Given the description of an element on the screen output the (x, y) to click on. 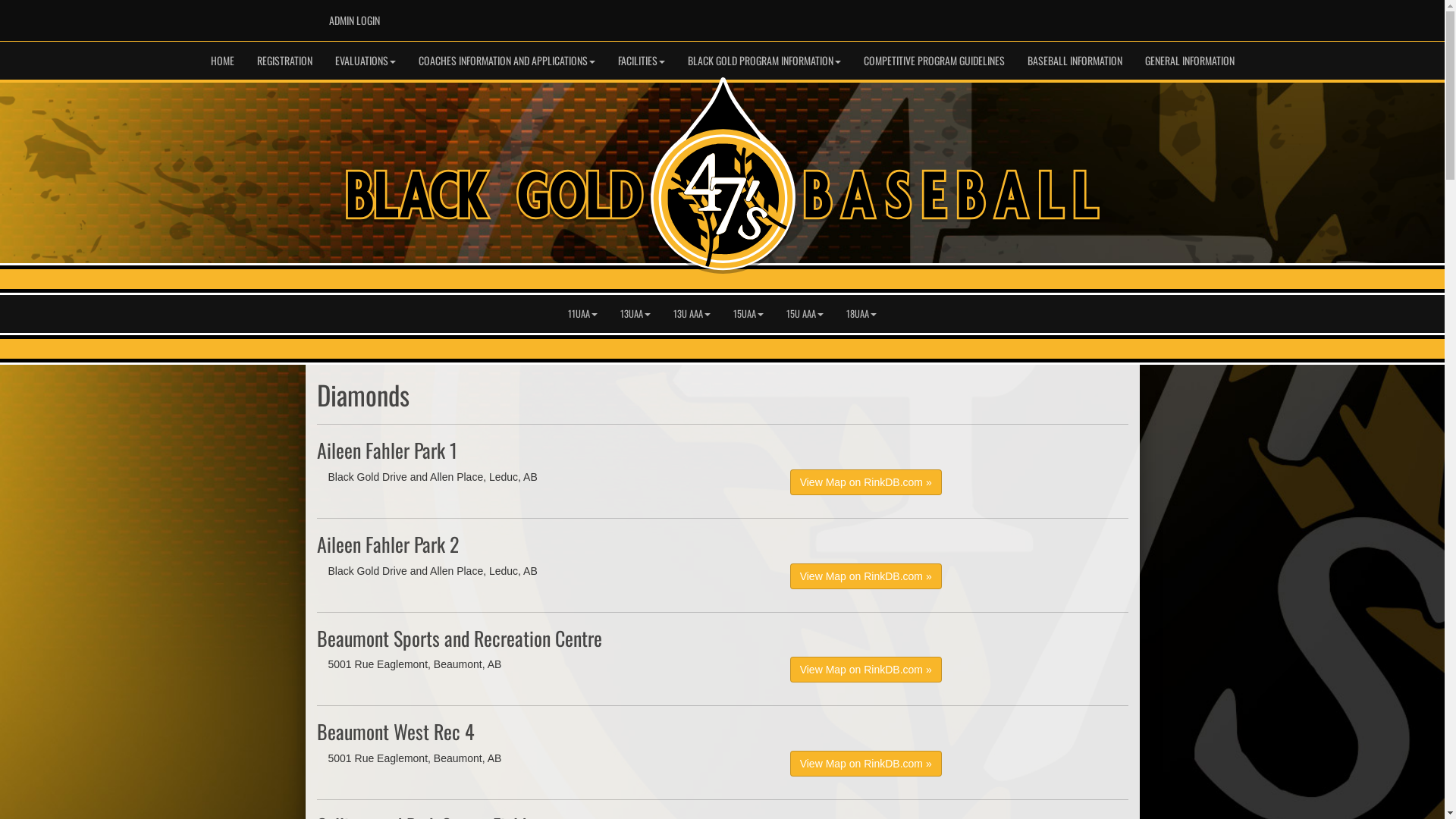
BASEBALL INFORMATION Element type: text (1074, 60)
Instagram Element type: text (1106, 15)
BLACK GOLD PROGRAM INFORMATION Element type: text (764, 60)
REGISTRATION Element type: text (284, 60)
Twitter Element type: text (1084, 15)
 ADMIN LOGIN
ADMIN LOGIN Element type: text (352, 20)
FACILITIES Element type: text (641, 60)
COMPETITIVE PROGRAM GUIDELINES Element type: text (934, 60)
15UAA Element type: text (748, 313)
15U AAA Element type: text (804, 313)
13UAA Element type: text (635, 313)
11UAA Element type: text (582, 313)
GENERAL INFORMATION Element type: text (1188, 60)
13U AAA Element type: text (691, 313)
18UAA Element type: text (861, 313)
Facebook Element type: text (1038, 15)
HOME Element type: text (221, 60)
Youtube Element type: text (1061, 15)
EVALUATIONS Element type: text (364, 60)
COACHES INFORMATION AND APPLICATIONS Element type: text (505, 60)
